Given the description of an element on the screen output the (x, y) to click on. 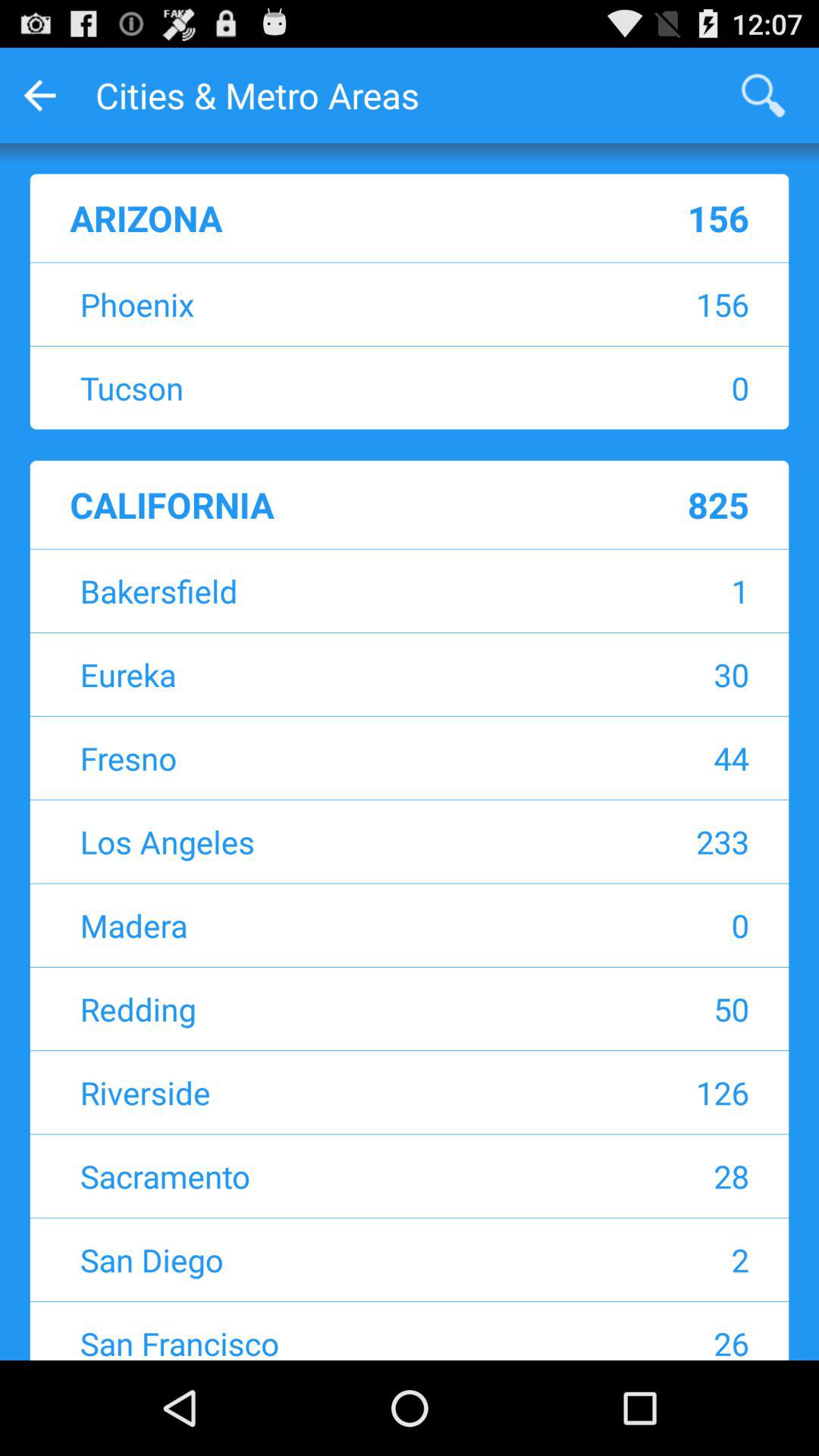
tap icon next to 156 icon (314, 303)
